Given the description of an element on the screen output the (x, y) to click on. 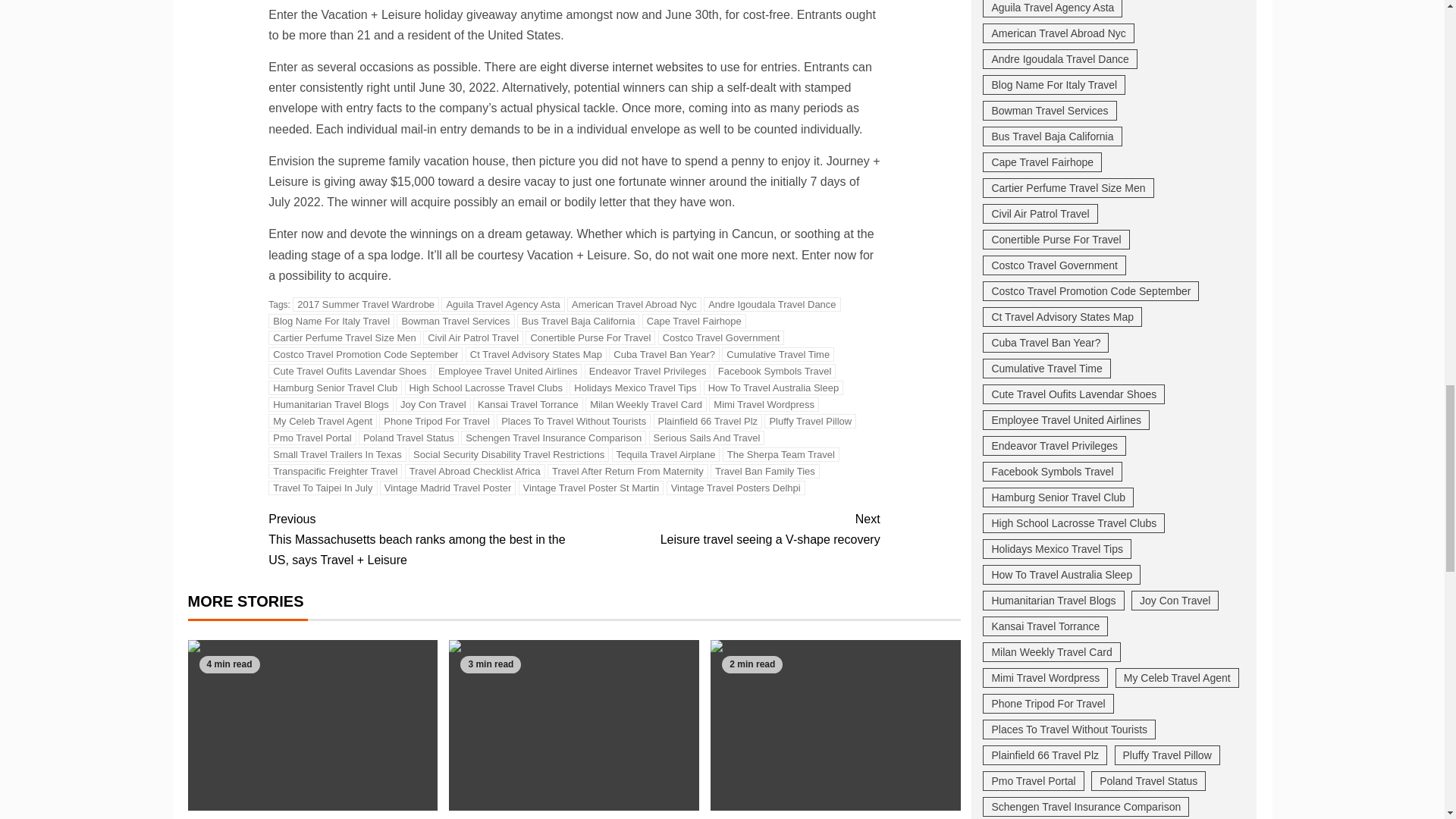
Aguila Travel Agency Asta (502, 304)
Bus Travel Baja California (578, 320)
Marriott Fairway Villas Timeshare Review (835, 724)
Cartier Perfume Travel Size Men (343, 337)
American Travel Abroad Nyc (634, 304)
Bowman Travel Services (454, 320)
eight diverse internet websites (621, 66)
Andre Igoudala Travel Dance (771, 304)
Cape Travel Fairhope (693, 320)
